Given the description of an element on the screen output the (x, y) to click on. 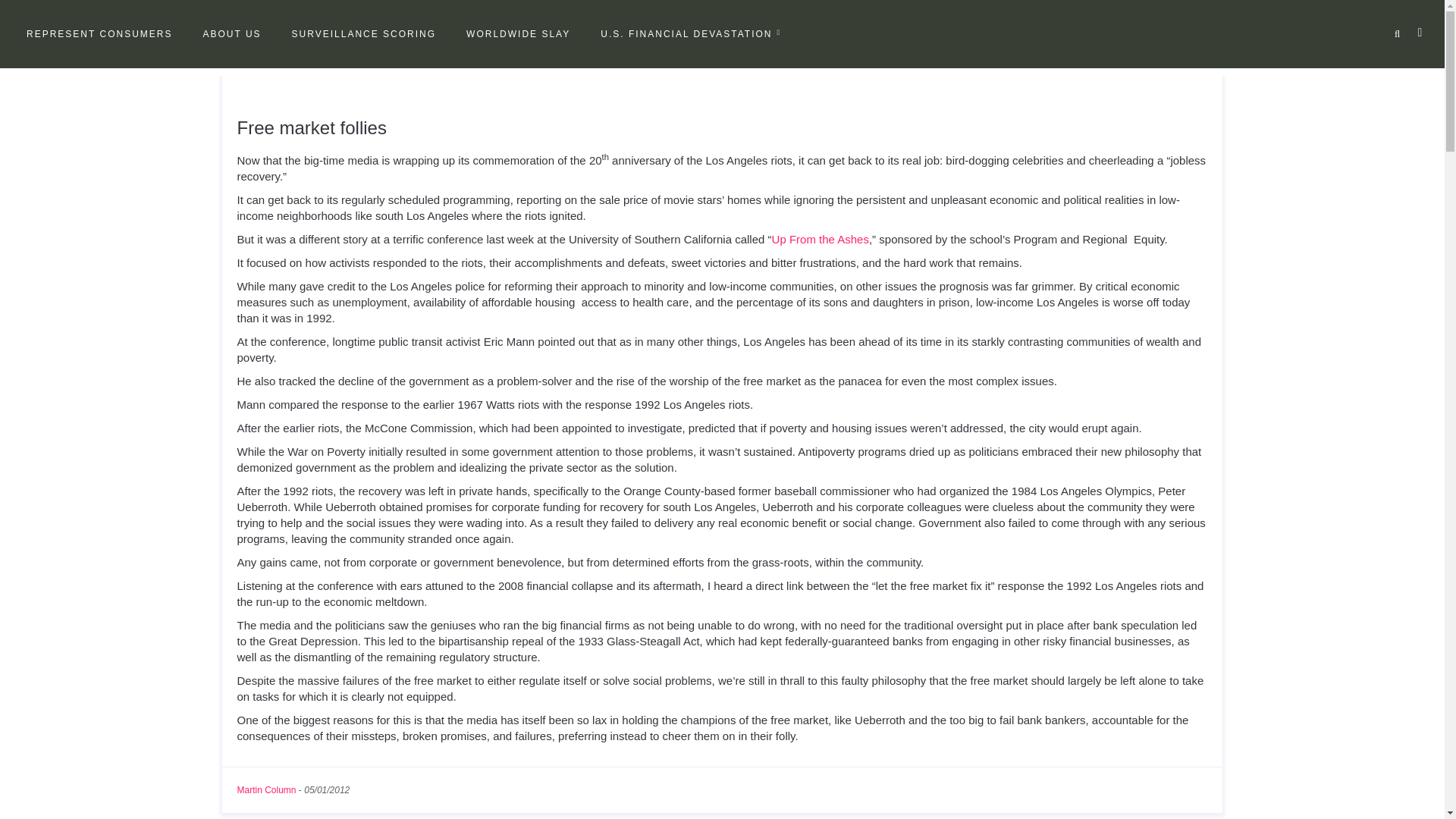
REPRESENT CONSUMERS (98, 33)
ABOUT US (231, 33)
U.S. FINANCIAL DEVASTATION (690, 33)
Martin Column (265, 789)
SURVEILLANCE SCORING (364, 33)
Up From the Ashes (820, 238)
WORLDWIDE SLAY (517, 33)
Free market follies (310, 127)
